Given the description of an element on the screen output the (x, y) to click on. 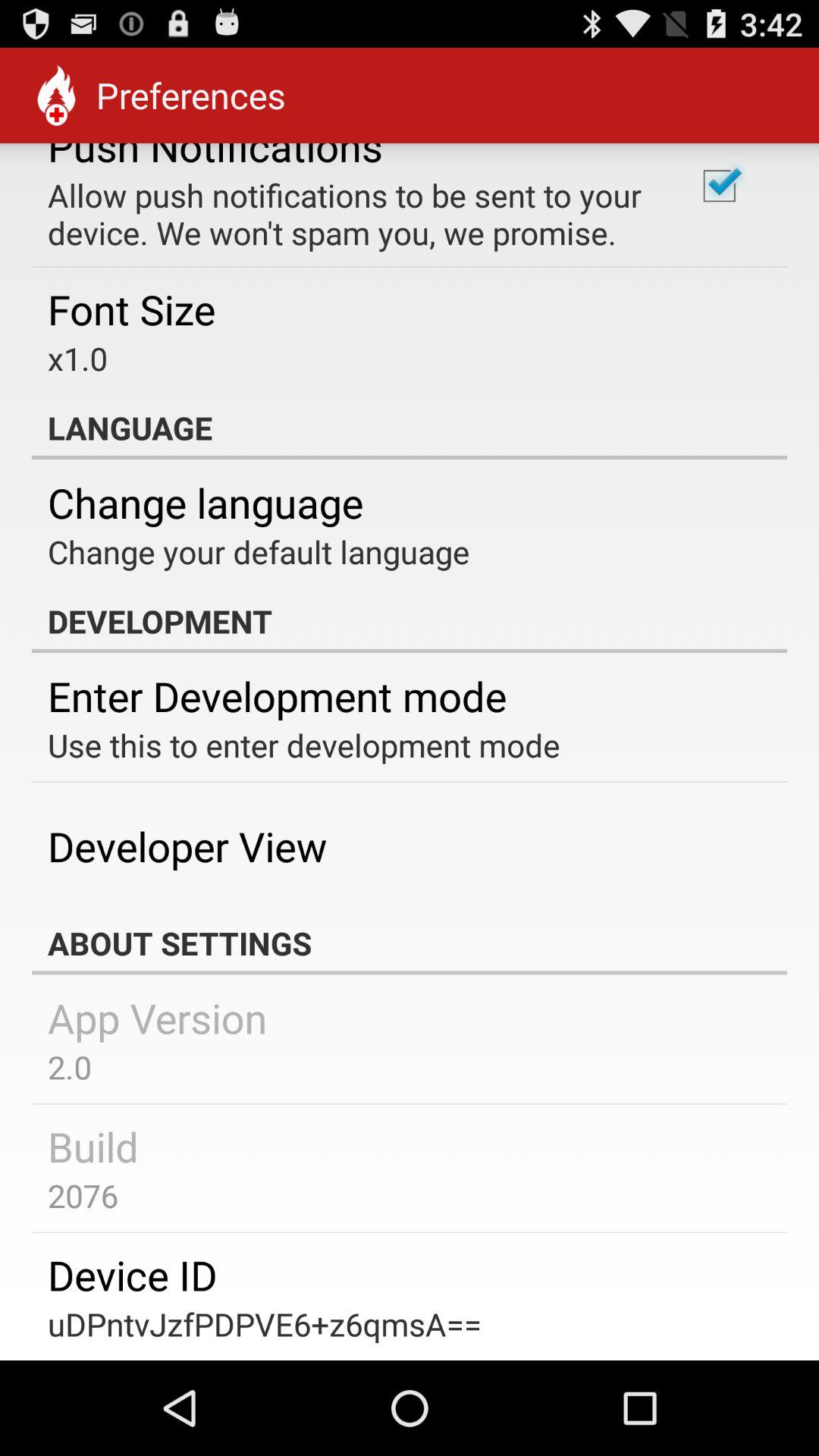
choose the app to the right of allow push notifications app (719, 185)
